Given the description of an element on the screen output the (x, y) to click on. 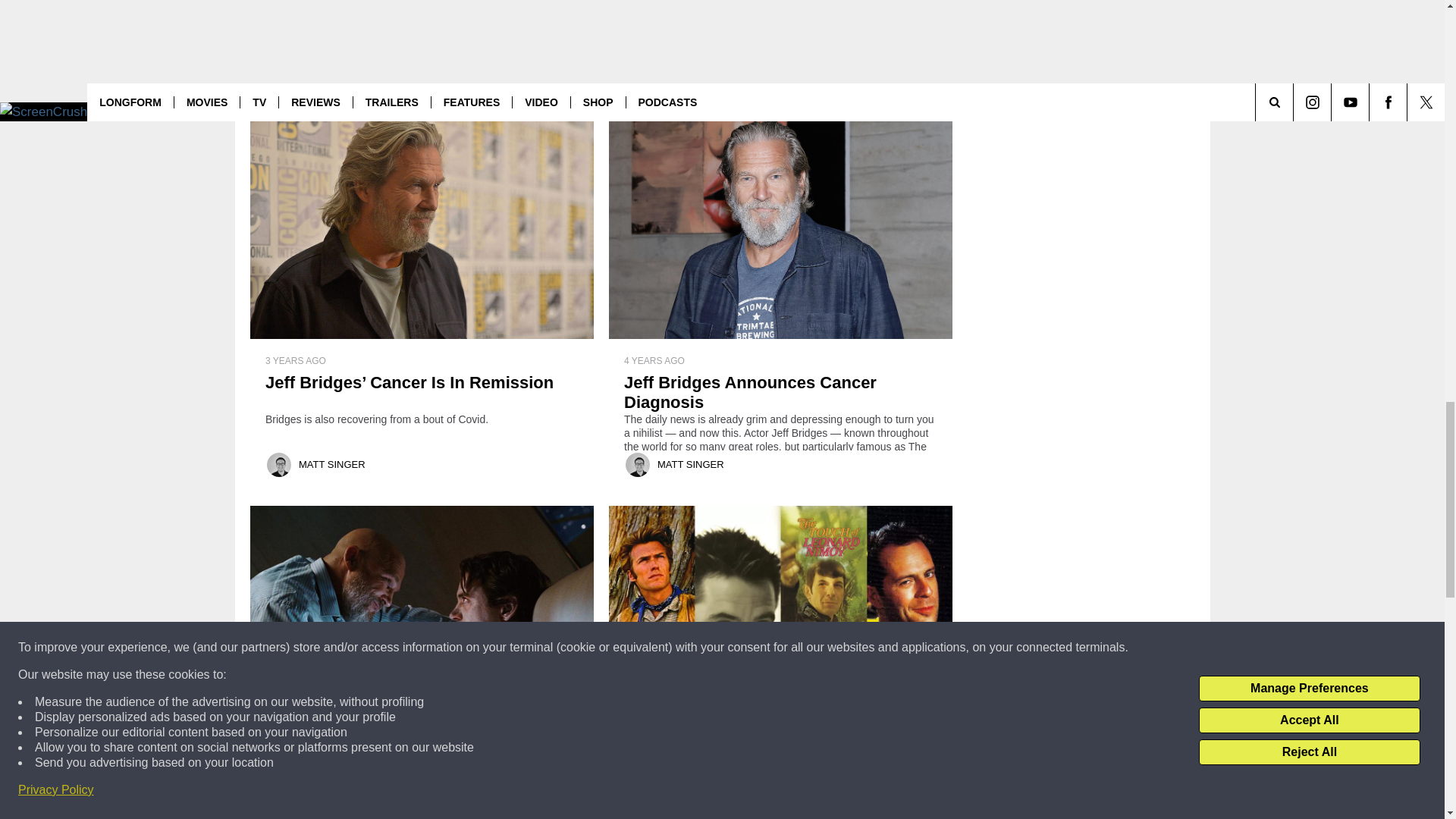
MATT SINGER (331, 68)
Matt Singer (278, 68)
13 Actors Who Returned To Iconic Roles Decades Later (779, 8)
Claire Epting (636, 68)
